Given the description of an element on the screen output the (x, y) to click on. 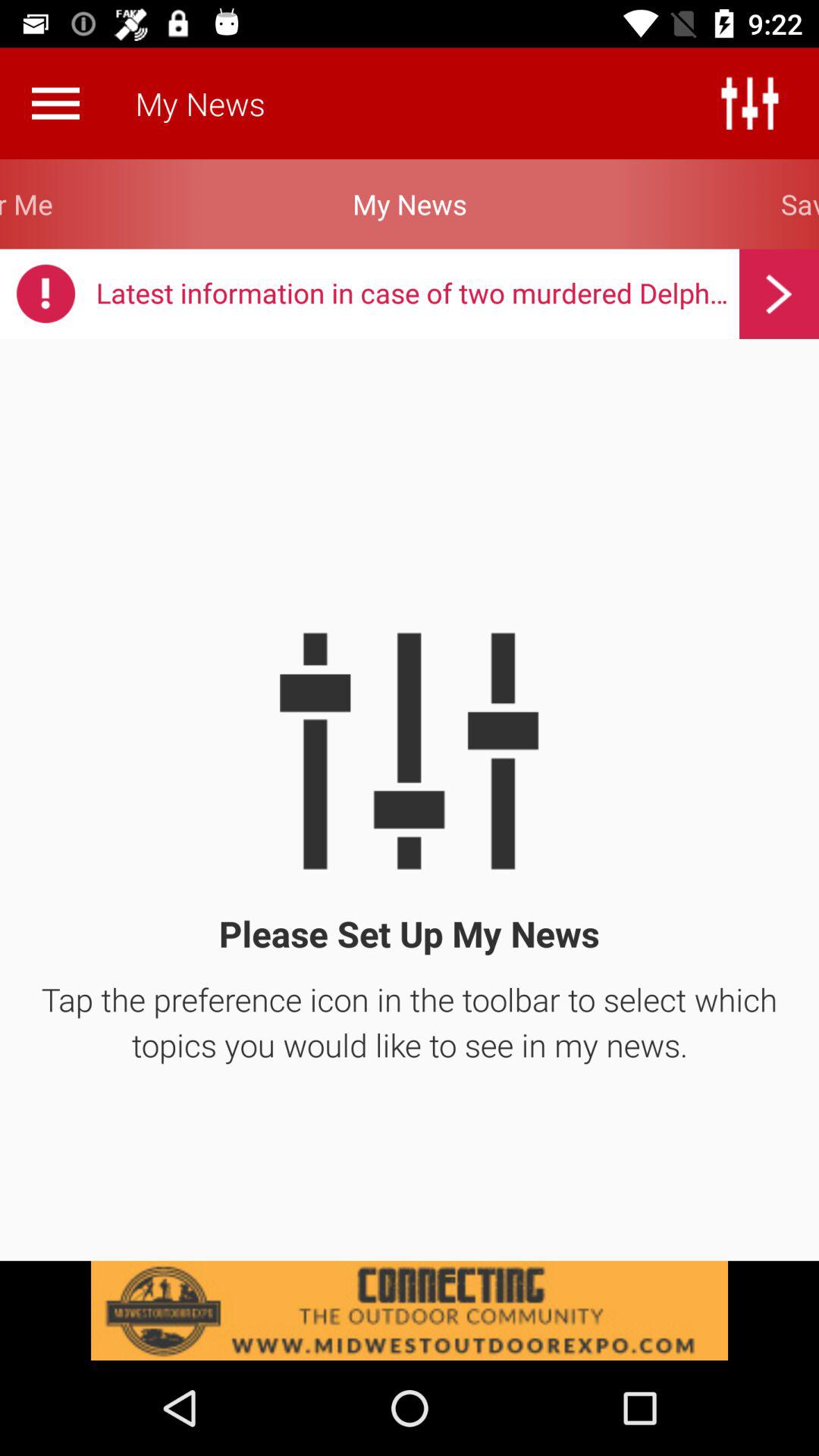
go to advertisement page (409, 1310)
